Given the description of an element on the screen output the (x, y) to click on. 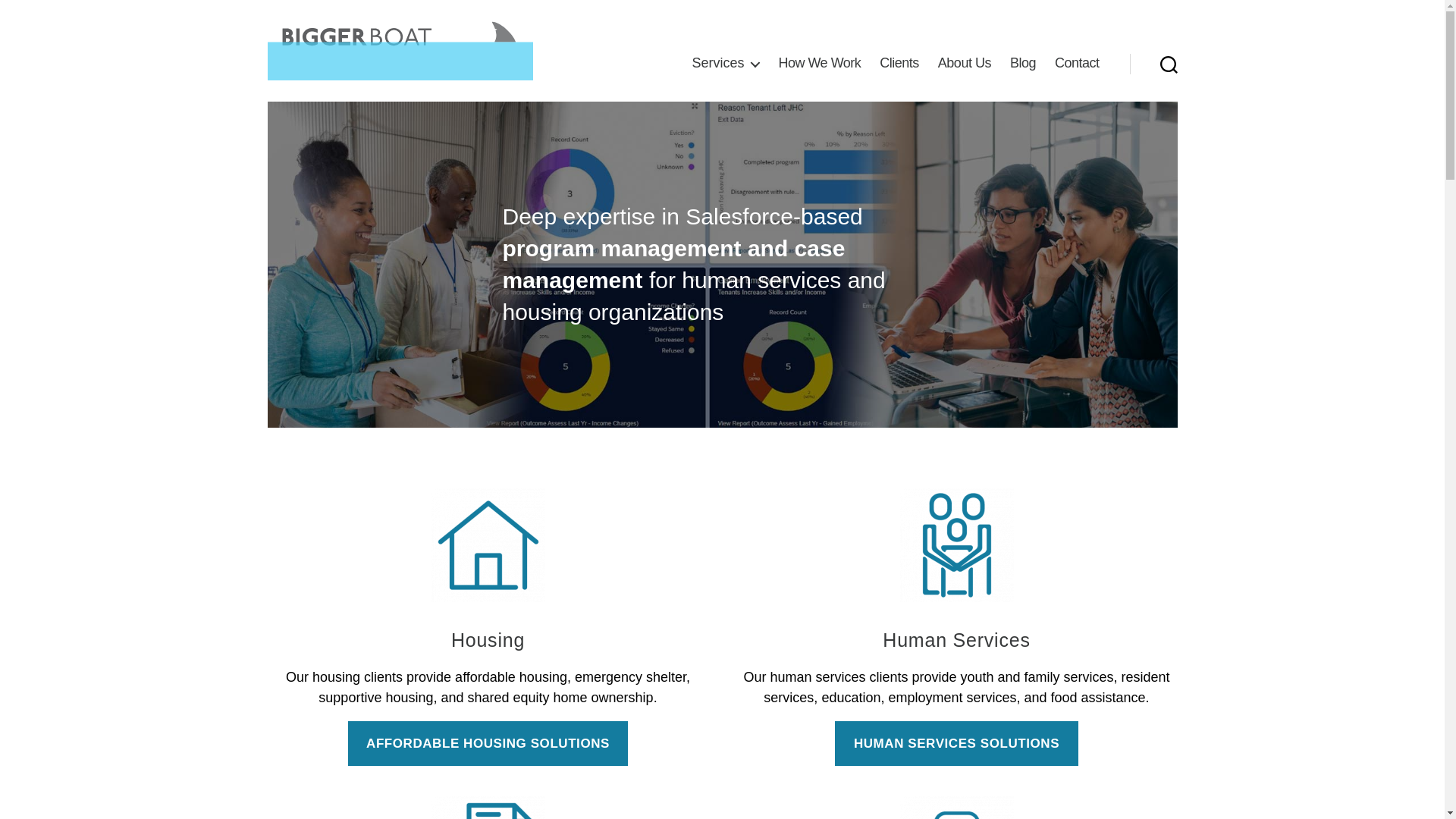
About Us (964, 63)
Blog (1022, 63)
HUMAN SERVICES SOLUTIONS (955, 743)
Search (1168, 63)
Bigger Boat Consulting, Home (399, 50)
Clients (898, 63)
How We Work (818, 63)
Contact (1076, 63)
Services (724, 63)
AFFORDABLE HOUSING SOLUTIONS (487, 743)
